Given the description of an element on the screen output the (x, y) to click on. 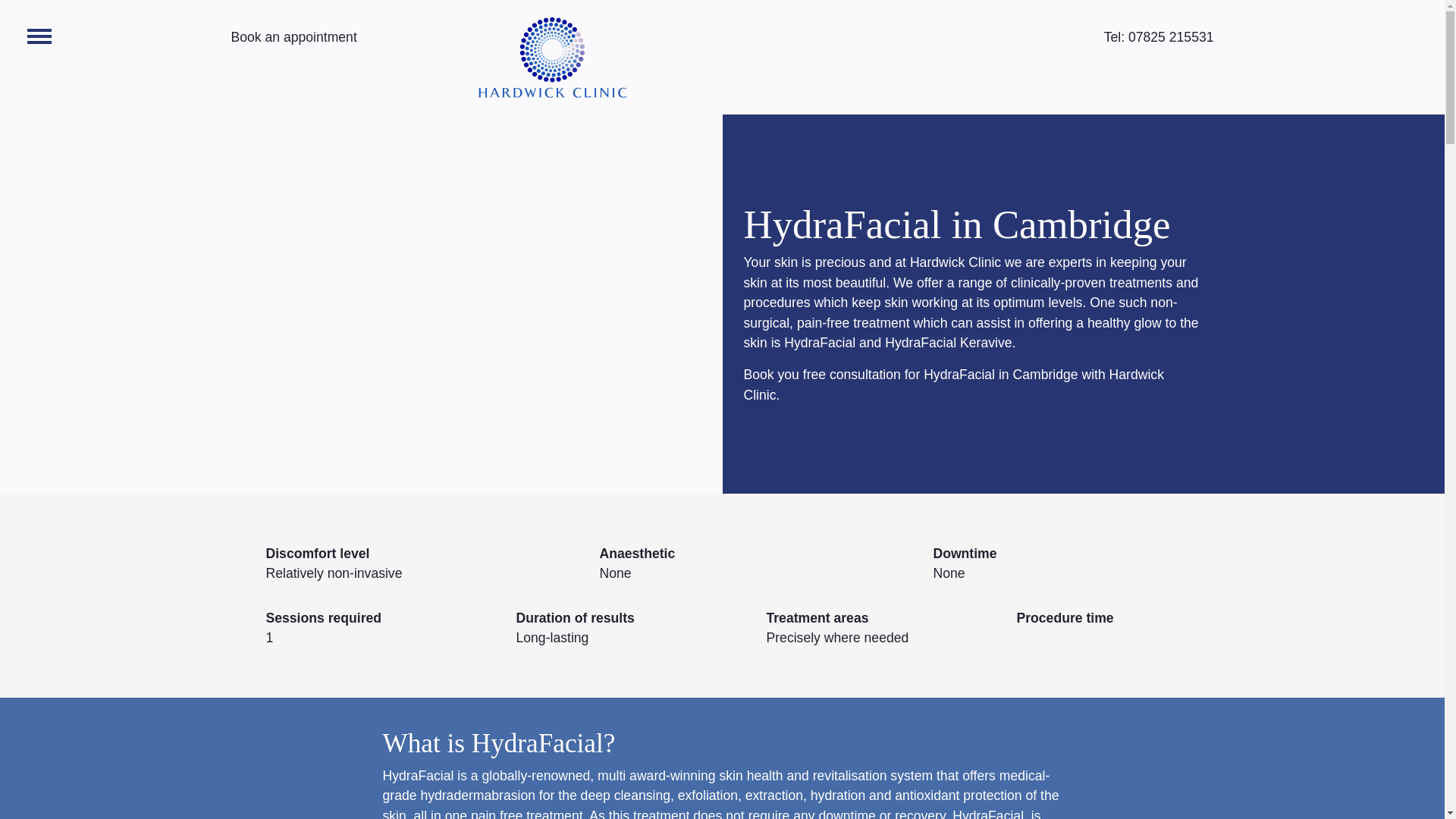
Book an appointment (293, 37)
